Given the description of an element on the screen output the (x, y) to click on. 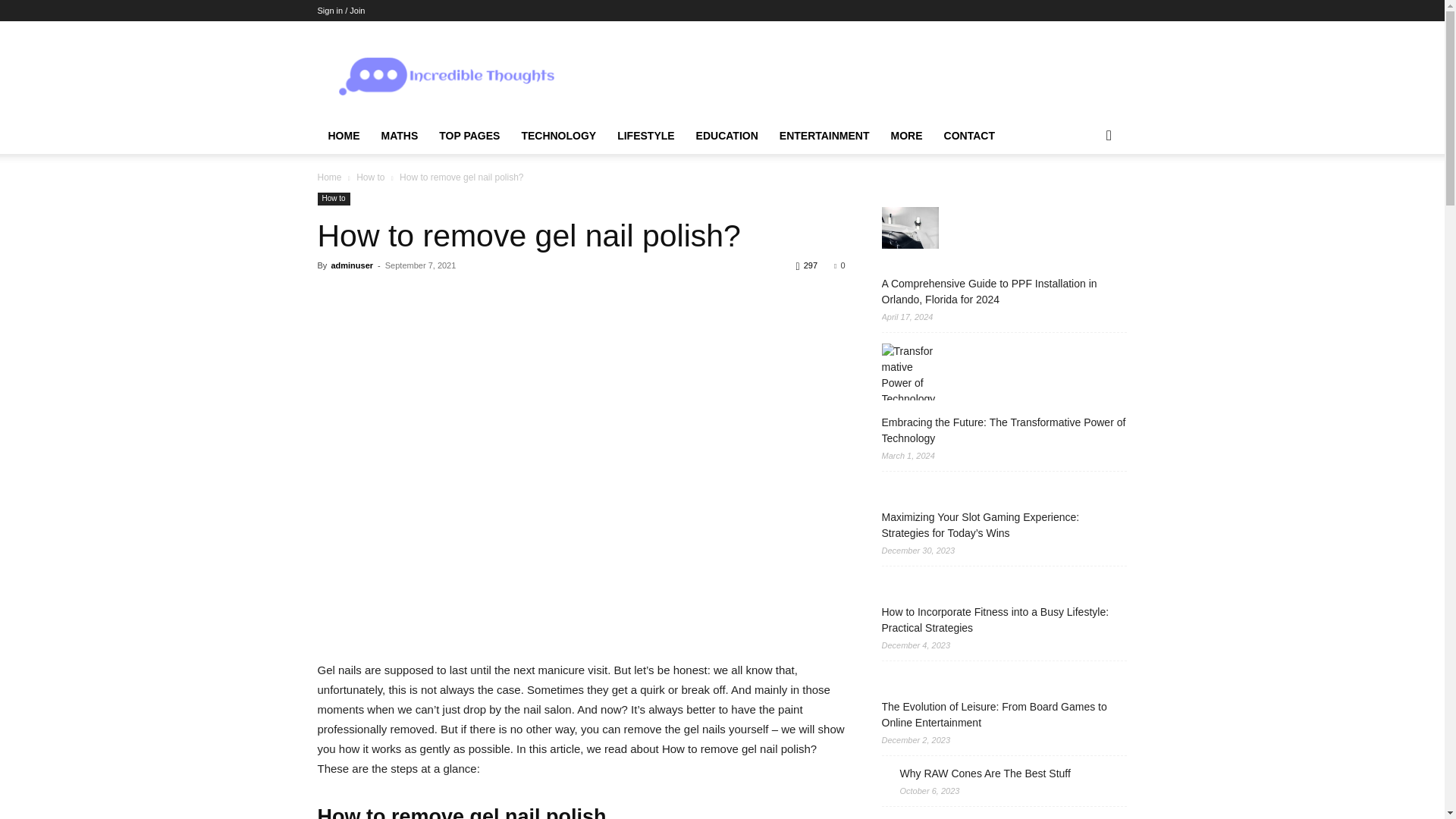
View all posts in How to (370, 176)
HOME (343, 135)
MATHS (398, 135)
